Given the description of an element on the screen output the (x, y) to click on. 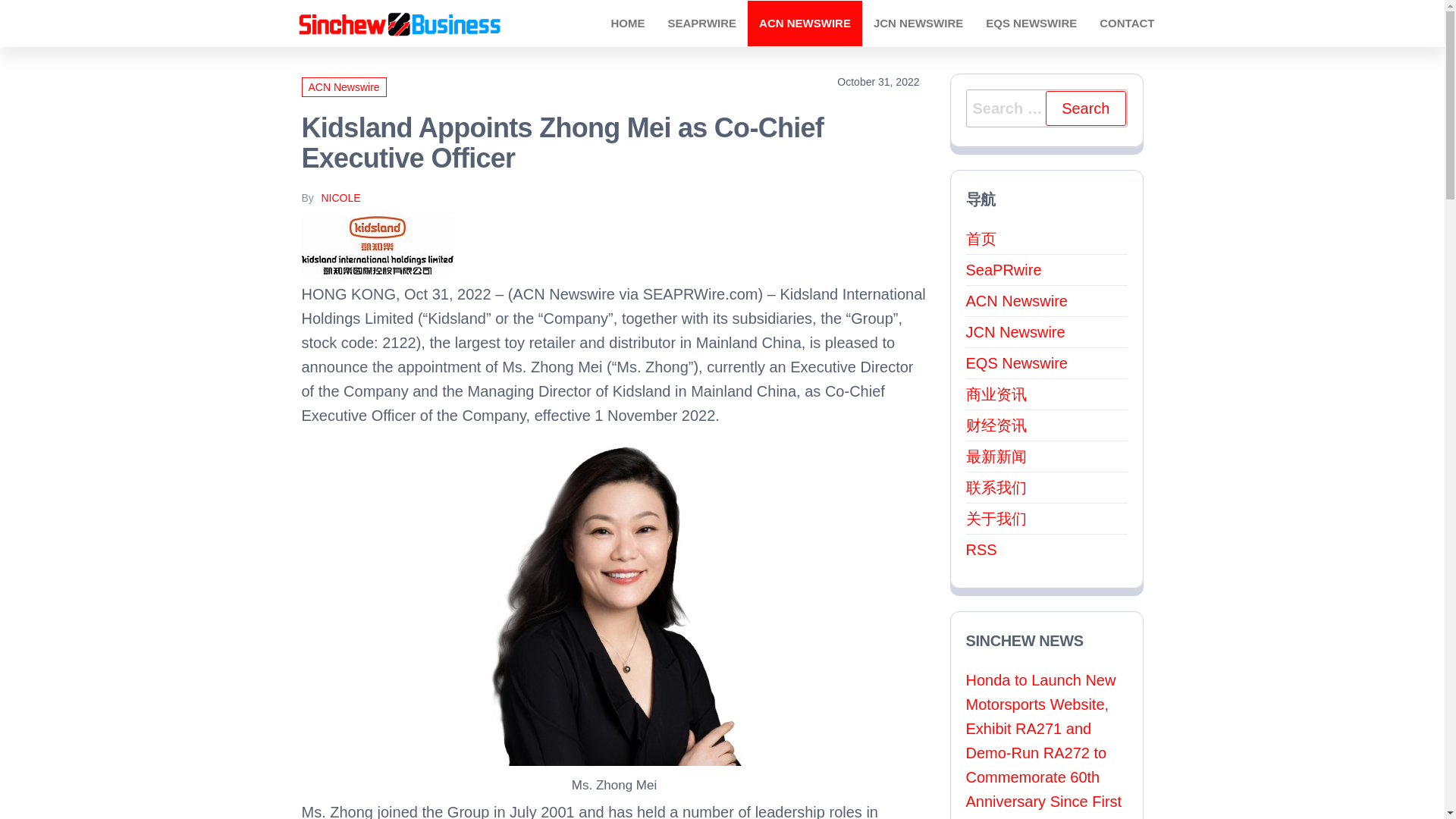
RSS (981, 549)
ACN NEWSWIRE (804, 22)
Home (627, 22)
JCN Newswire (917, 22)
ACN Newswire (1016, 300)
Contact (1126, 22)
SEAPRWIRE (702, 22)
EQS Newswire (1030, 22)
Search (1085, 108)
Search (1085, 108)
JCN Newswire (1015, 331)
HOME (627, 22)
EQS NEWSWIRE (1030, 22)
ACN Newswire (804, 22)
